Given the description of an element on the screen output the (x, y) to click on. 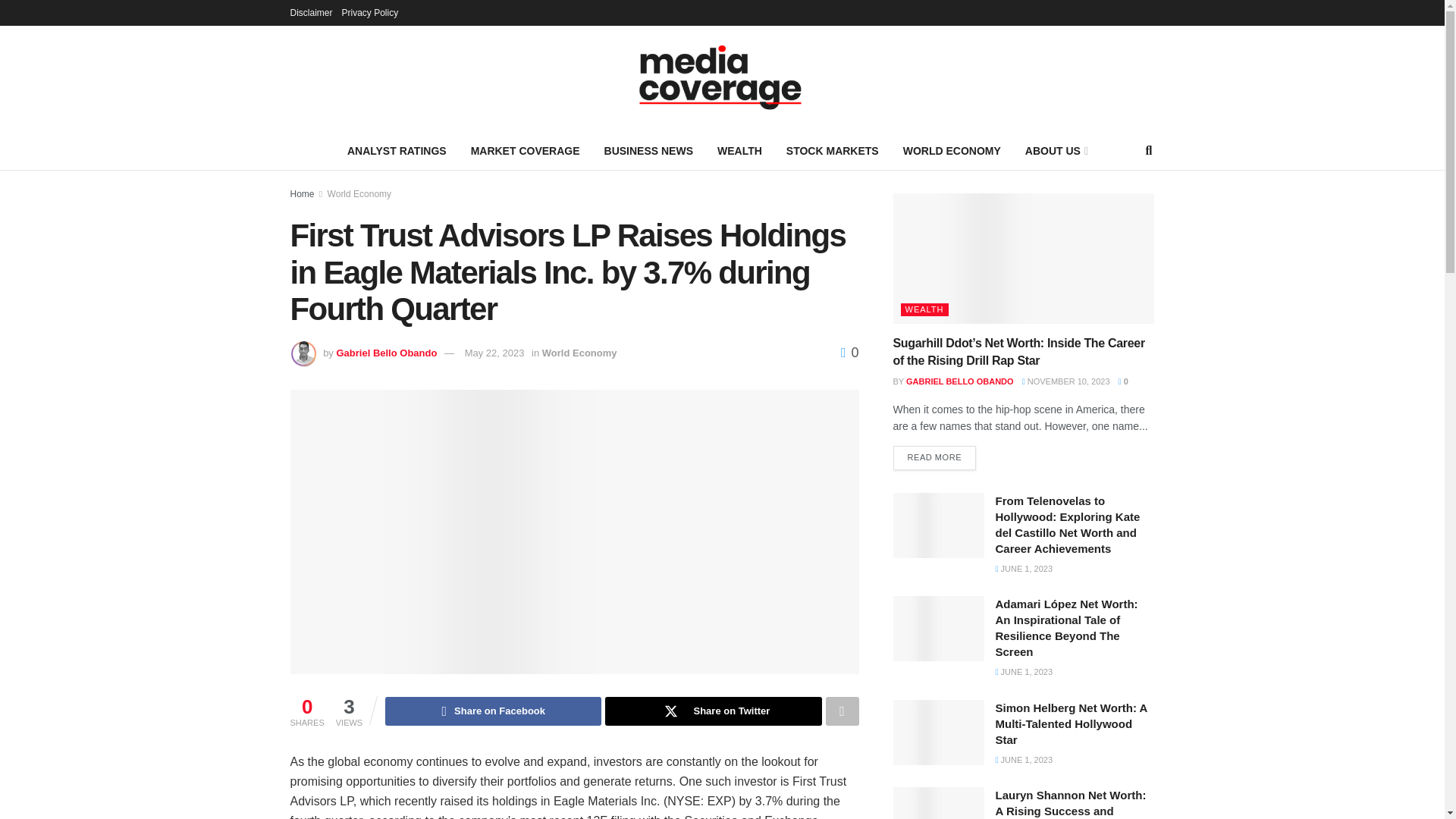
Home (301, 194)
WORLD ECONOMY (952, 150)
ABOUT US (1055, 150)
World Economy (359, 194)
World Economy (579, 352)
STOCK MARKETS (832, 150)
0 (850, 352)
Disclaimer (310, 12)
Share on Twitter (713, 710)
Share on Facebook (493, 710)
